Given the description of an element on the screen output the (x, y) to click on. 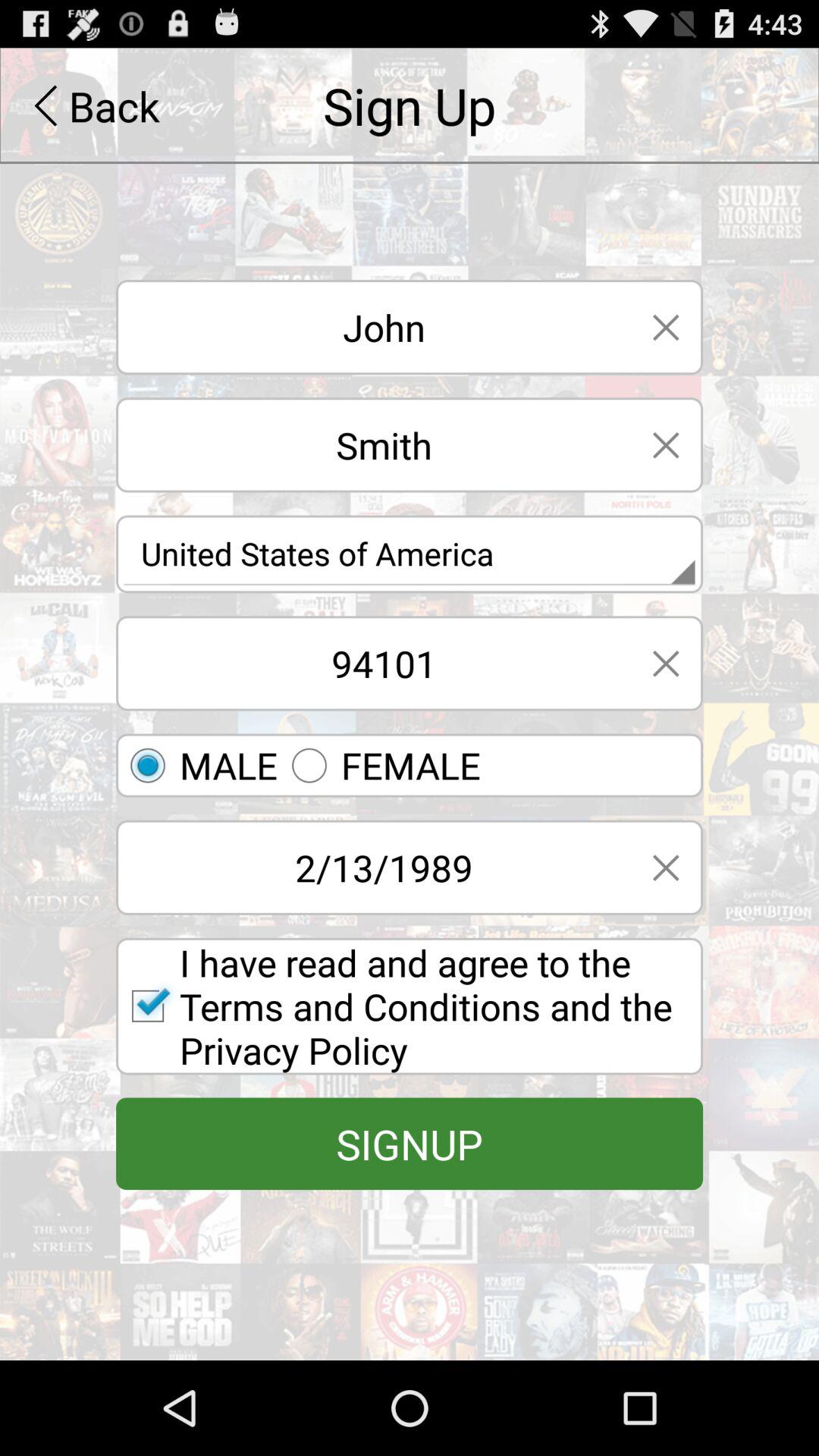
for close the box (665, 867)
